Given the description of an element on the screen output the (x, y) to click on. 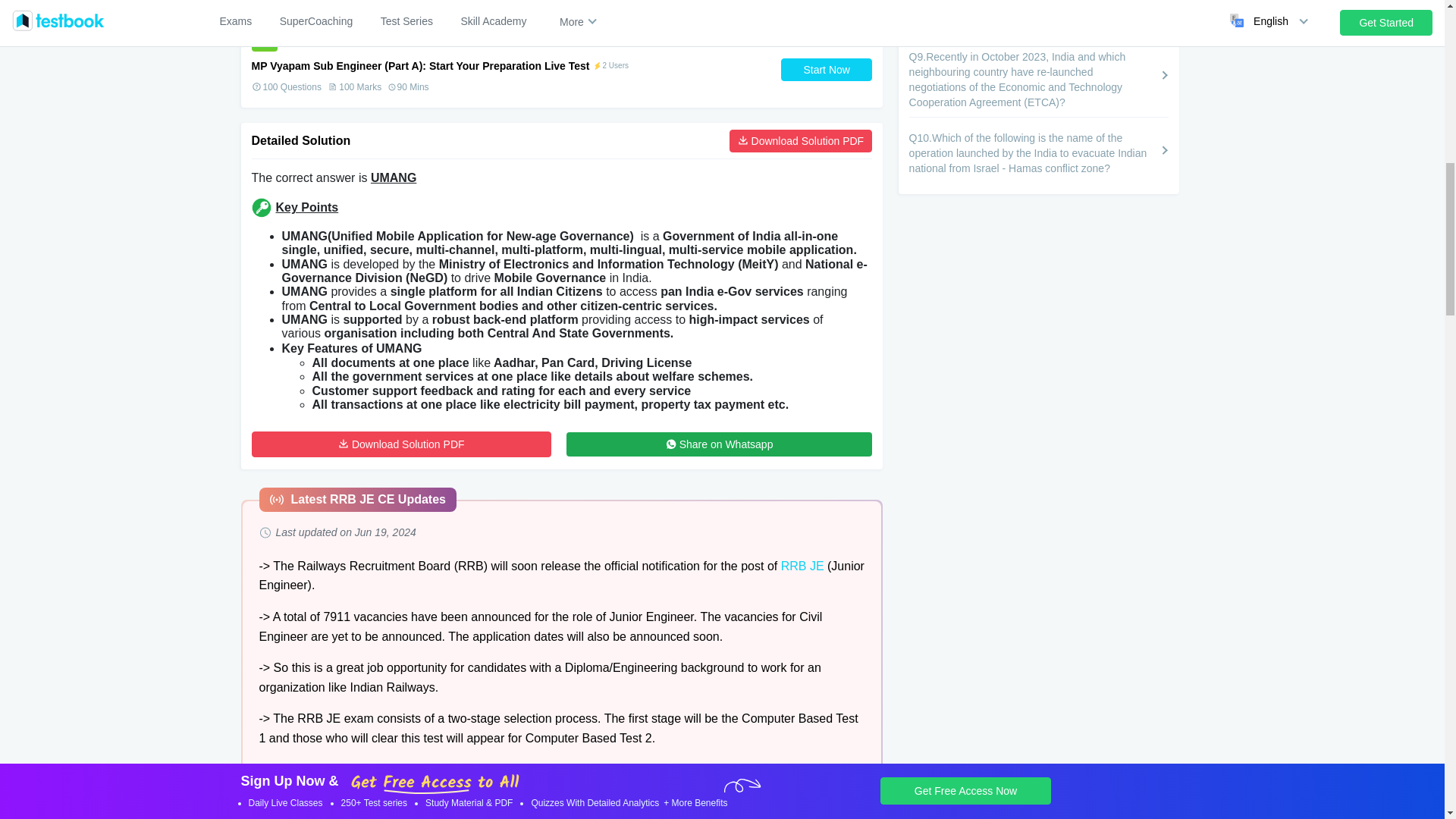
Download Solution PDF (401, 444)
Download Solution PDF (800, 140)
Share on Whatsapp (719, 444)
RRB JE (802, 565)
RRB JE selection process (551, 769)
Start Now (826, 69)
